Given the description of an element on the screen output the (x, y) to click on. 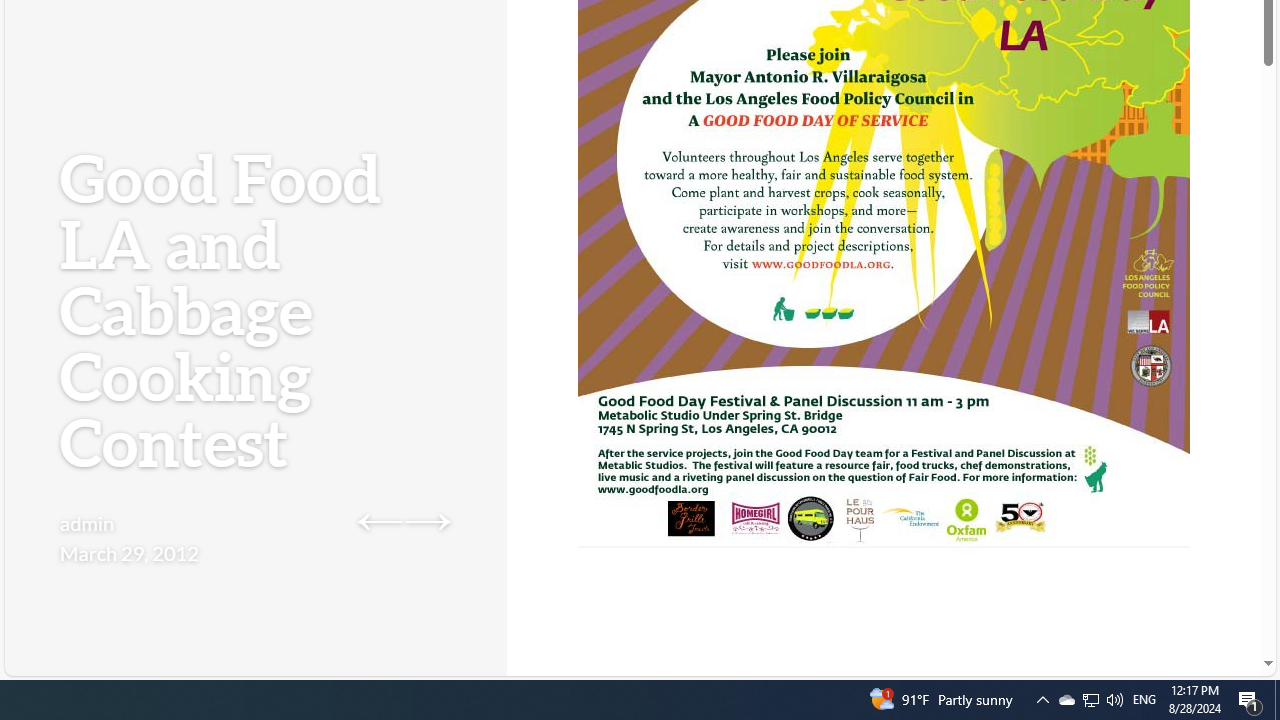
March 29, 2012 (129, 552)
admin (87, 522)
